Given the description of an element on the screen output the (x, y) to click on. 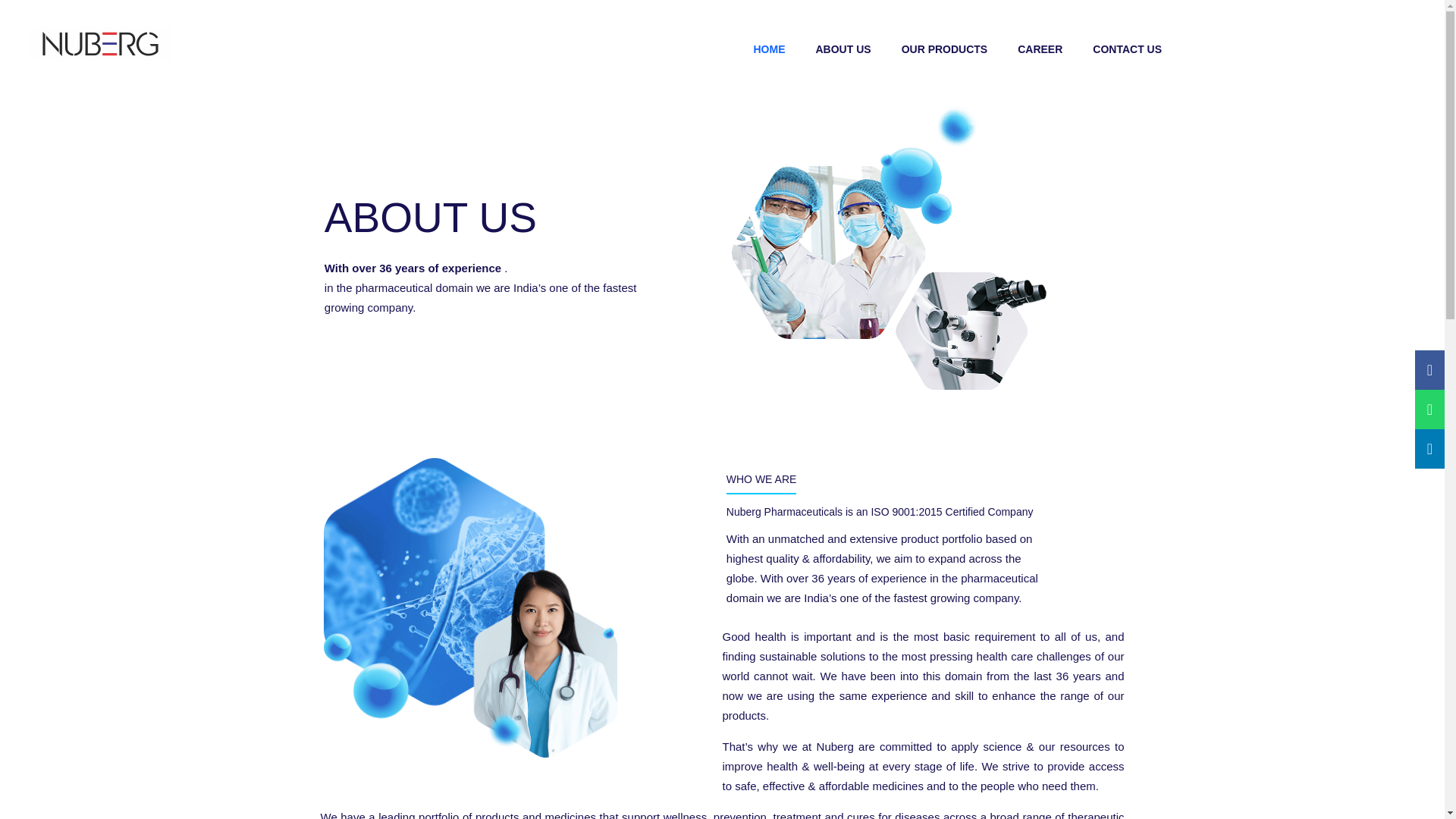
Nuberg (100, 49)
OUR PRODUCTS (944, 49)
CONTACT US (1126, 49)
